Given the description of an element on the screen output the (x, y) to click on. 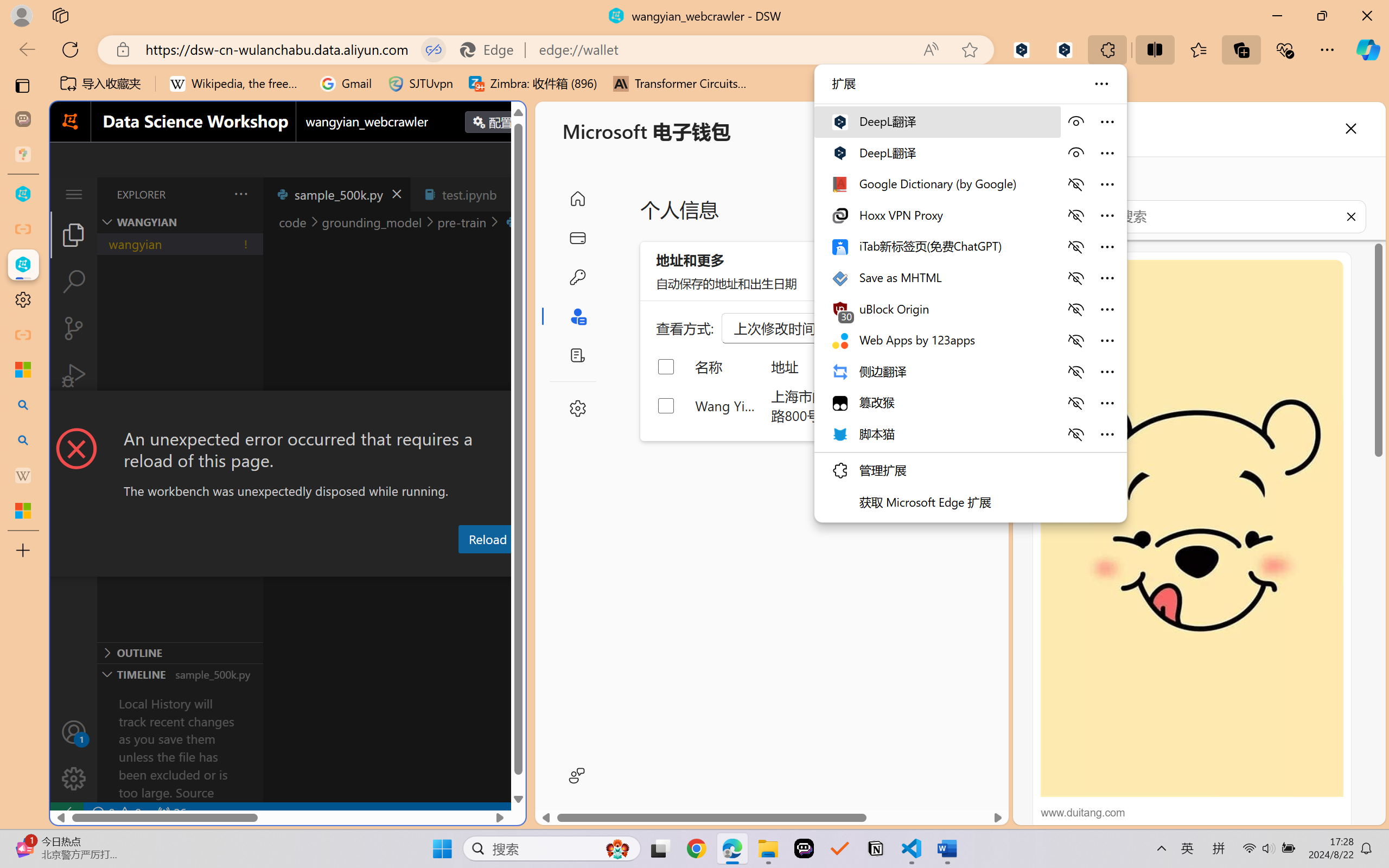
Transformer Circuits Thread (680, 83)
Timeline Section (179, 673)
sample_500k.py (336, 194)
